Given the description of an element on the screen output the (x, y) to click on. 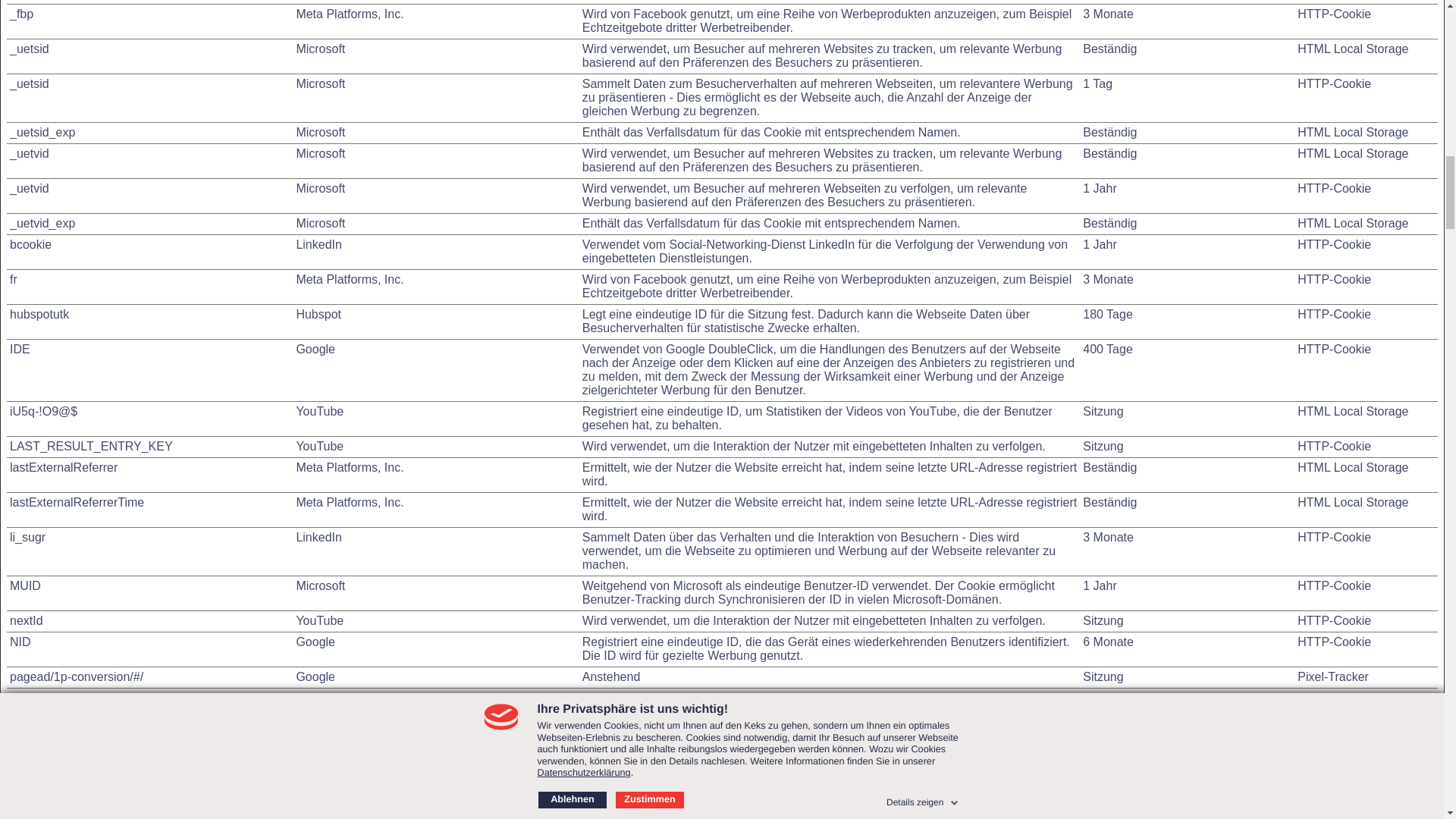
Hubspot (317, 314)
Meta Platforms, Inc. (349, 278)
Meta Platforms, Inc. (349, 502)
LinkedIn (318, 536)
YouTube (319, 445)
Microsoft (320, 153)
LinkedIn (318, 244)
Microsoft (320, 187)
Meta Platforms, Inc. (349, 467)
Microsoft (320, 585)
